Given the description of an element on the screen output the (x, y) to click on. 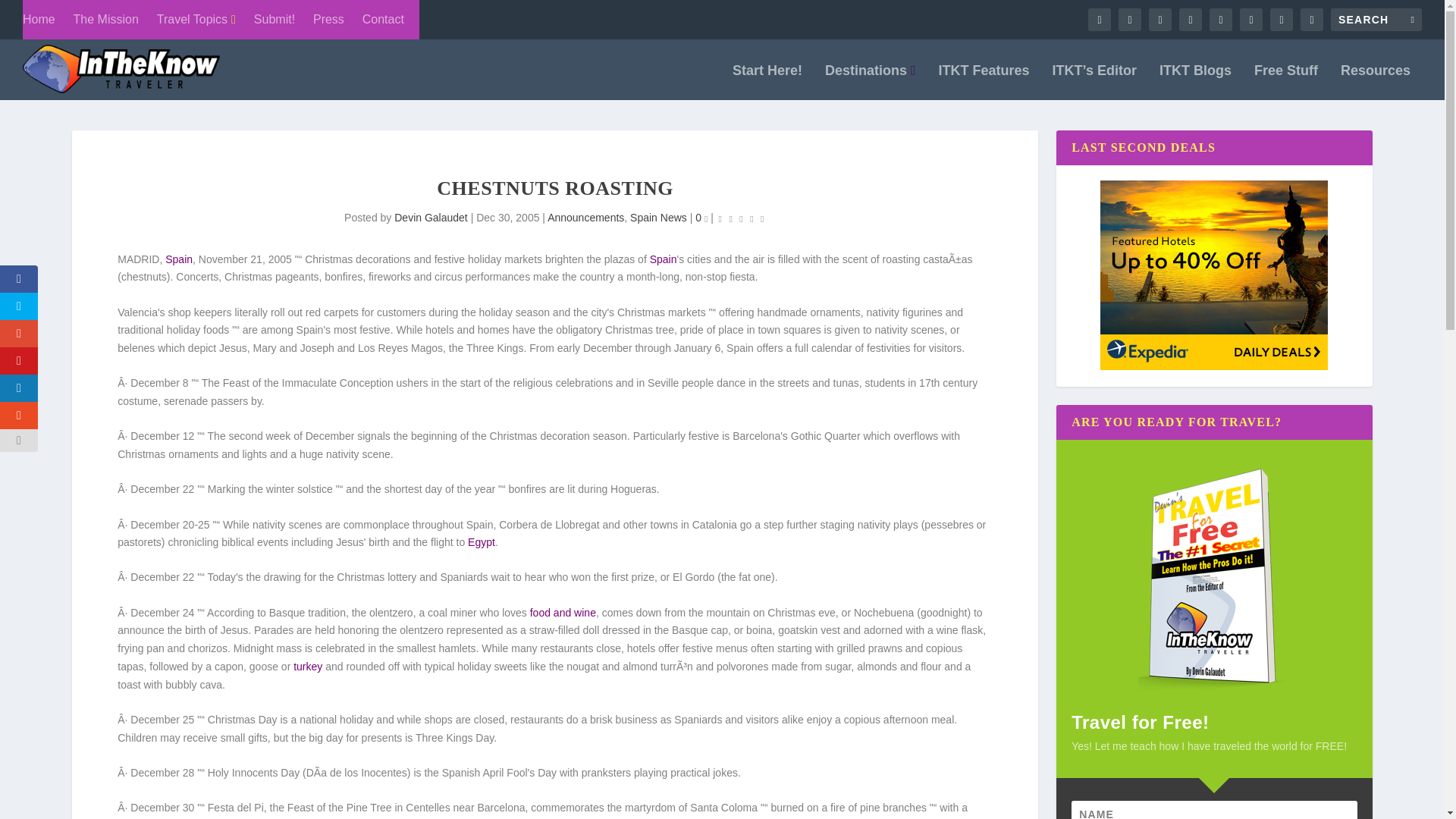
Contact (383, 19)
Rating: 0.00 (741, 218)
Submit! (274, 19)
Destinations (870, 81)
Posts by Devin Galaudet (430, 217)
Search for: (1376, 19)
Start Here! (767, 81)
Travel Topics (196, 19)
The Mission (106, 19)
